Given the description of an element on the screen output the (x, y) to click on. 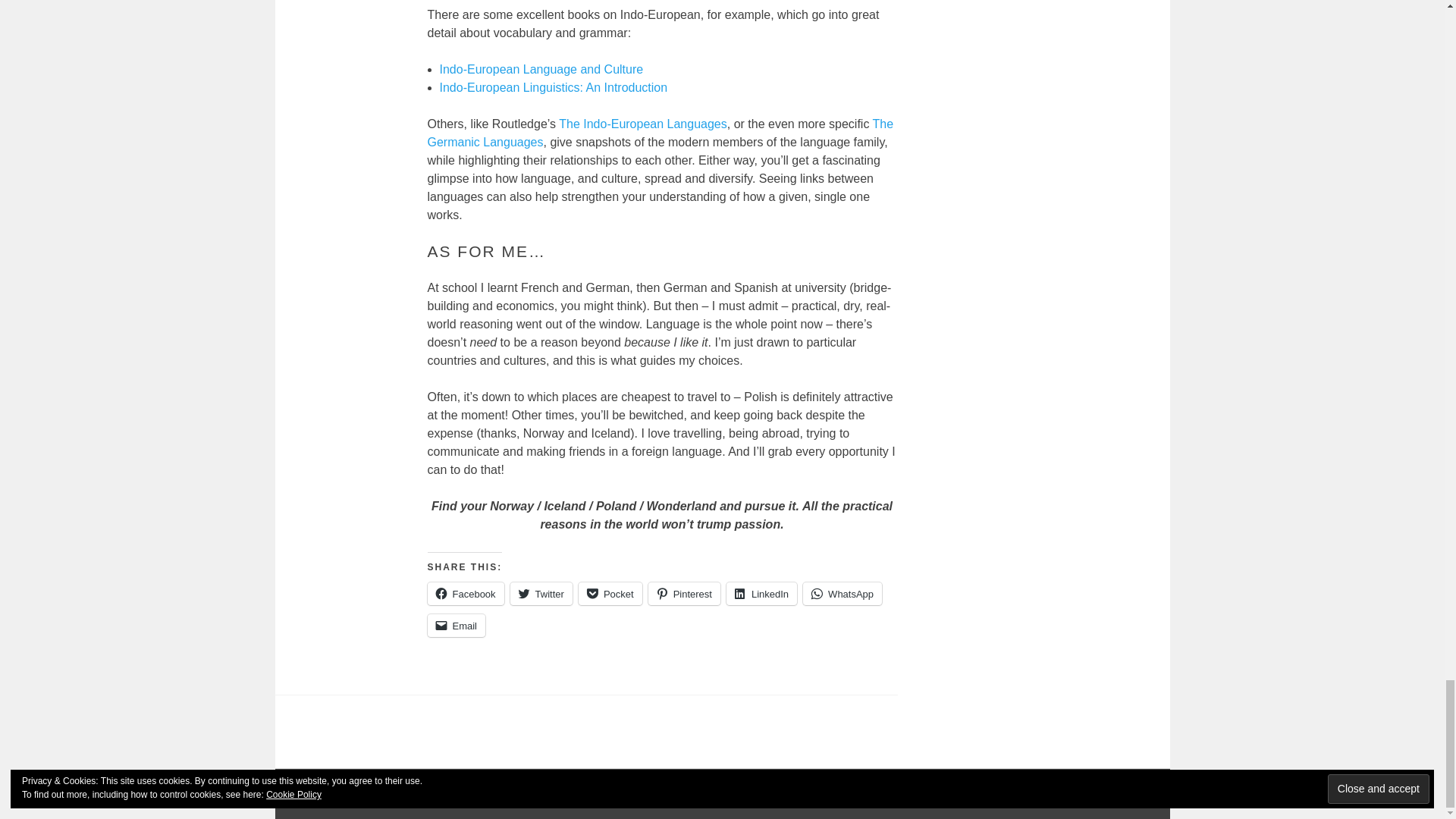
Click to share on Twitter (541, 593)
Indo-European Language and Culture (541, 69)
Click to share on Pocket (610, 593)
Click to share on Pinterest (683, 593)
Click to share on Facebook (465, 593)
The Germanic Languages (660, 132)
The Indo-European Languages (642, 123)
Indo-European Linguistics: An Introduction (553, 87)
